Given the description of an element on the screen output the (x, y) to click on. 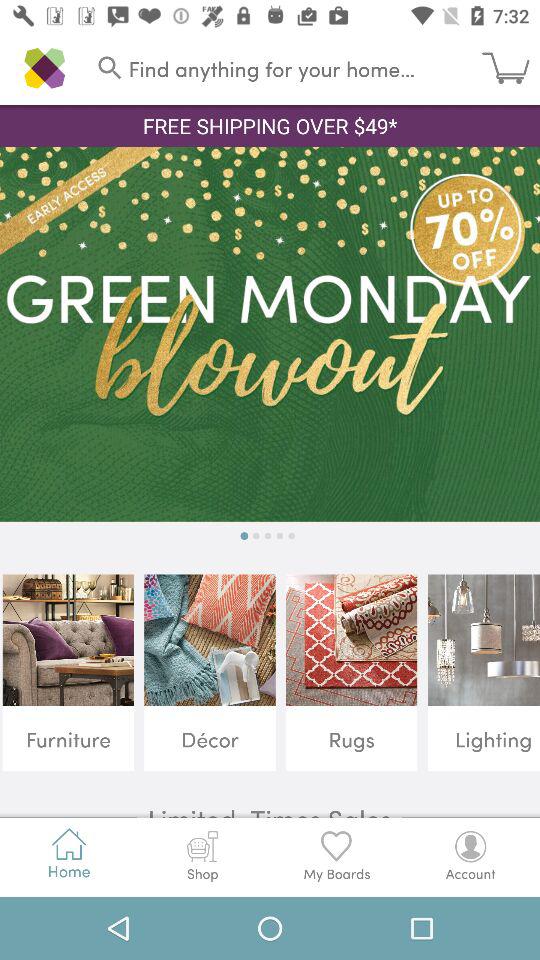
select icon below the free shipping over item (270, 334)
